Given the description of an element on the screen output the (x, y) to click on. 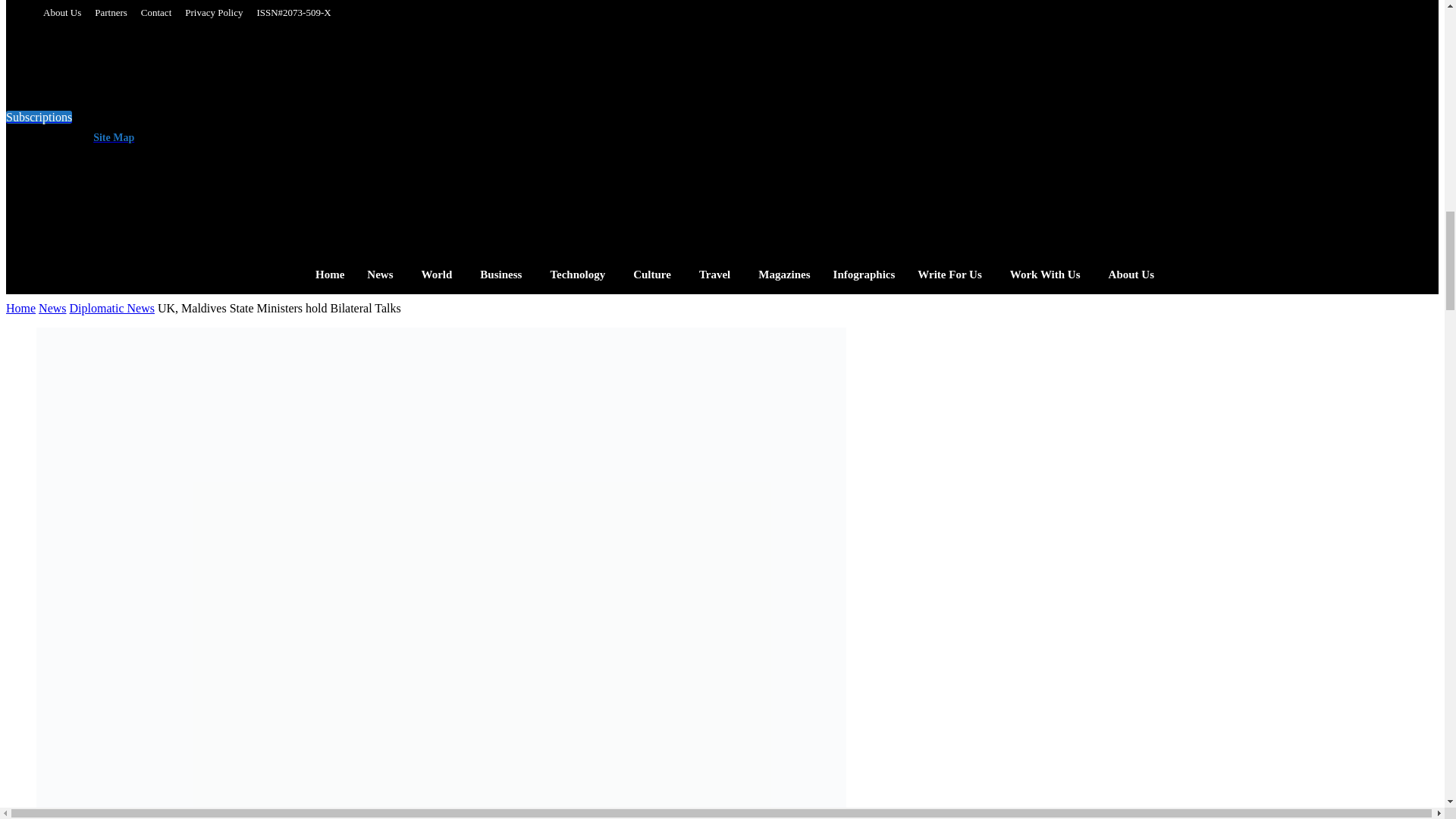
View all posts in Diplomatic News (111, 308)
Instagram (352, 131)
Linkedin (382, 131)
Twitter (412, 131)
Subscriptions (38, 116)
Facebook (321, 131)
View all posts in News (52, 308)
Site Map (110, 137)
Youtube (443, 131)
